Given the description of an element on the screen output the (x, y) to click on. 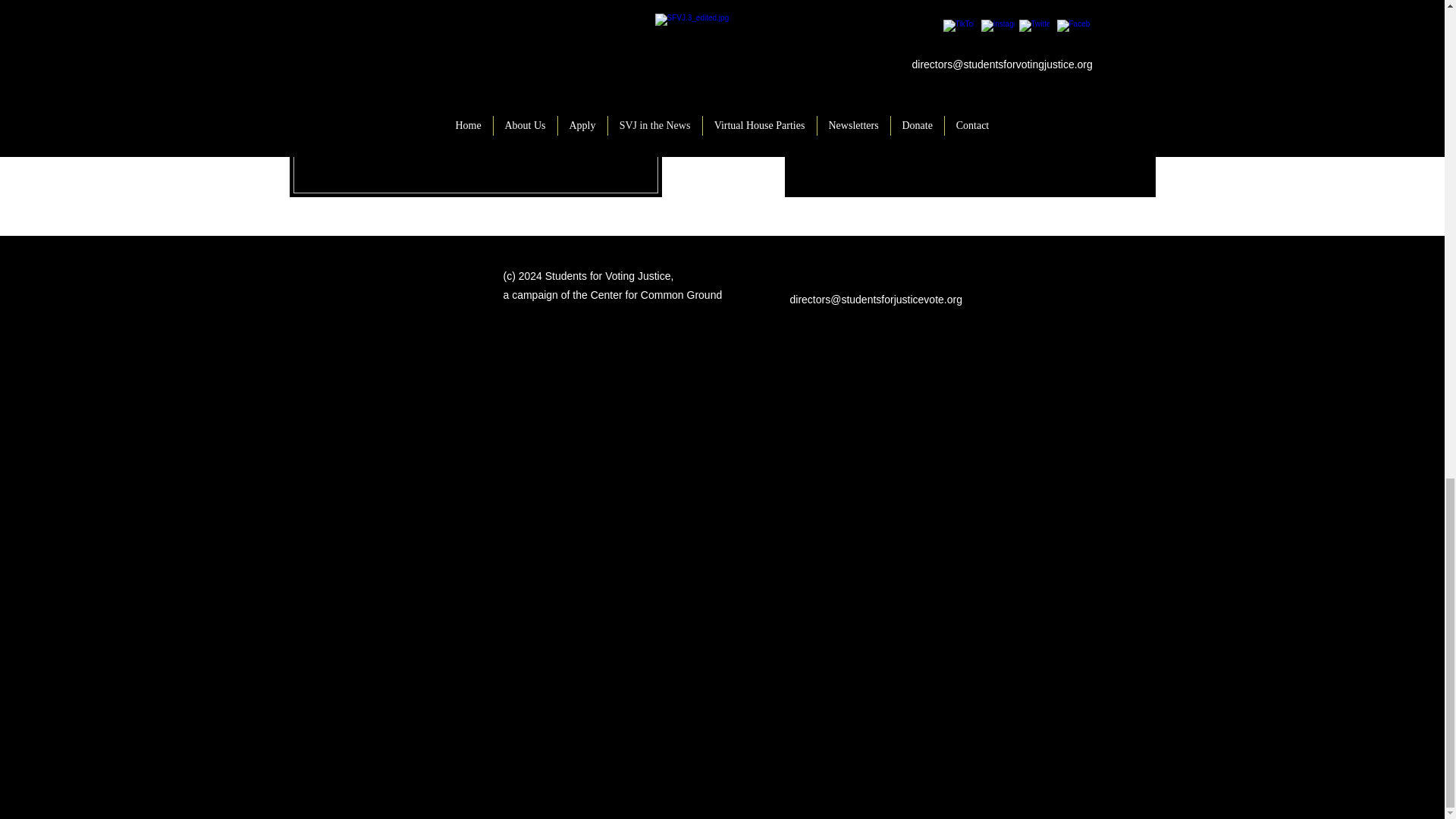
Screen Shot 2020-12-09 at 12.50.28 PM.pn (475, 98)
